Given the description of an element on the screen output the (x, y) to click on. 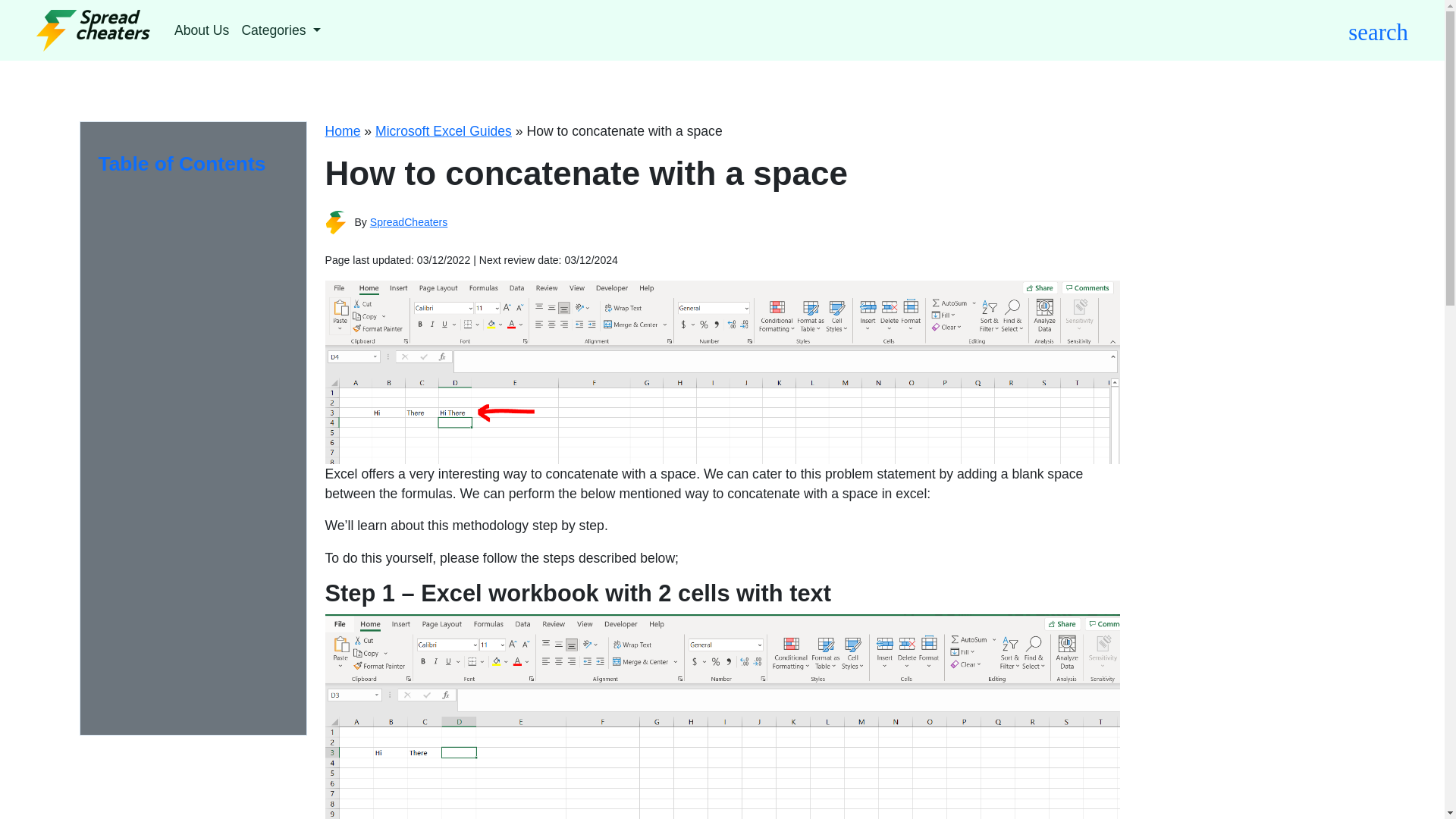
SpreadCheaters (408, 222)
Microsoft Excel Guides (443, 130)
About Us (201, 29)
Search (901, 94)
Categories (280, 29)
search (1377, 30)
Home (341, 130)
